Given the description of an element on the screen output the (x, y) to click on. 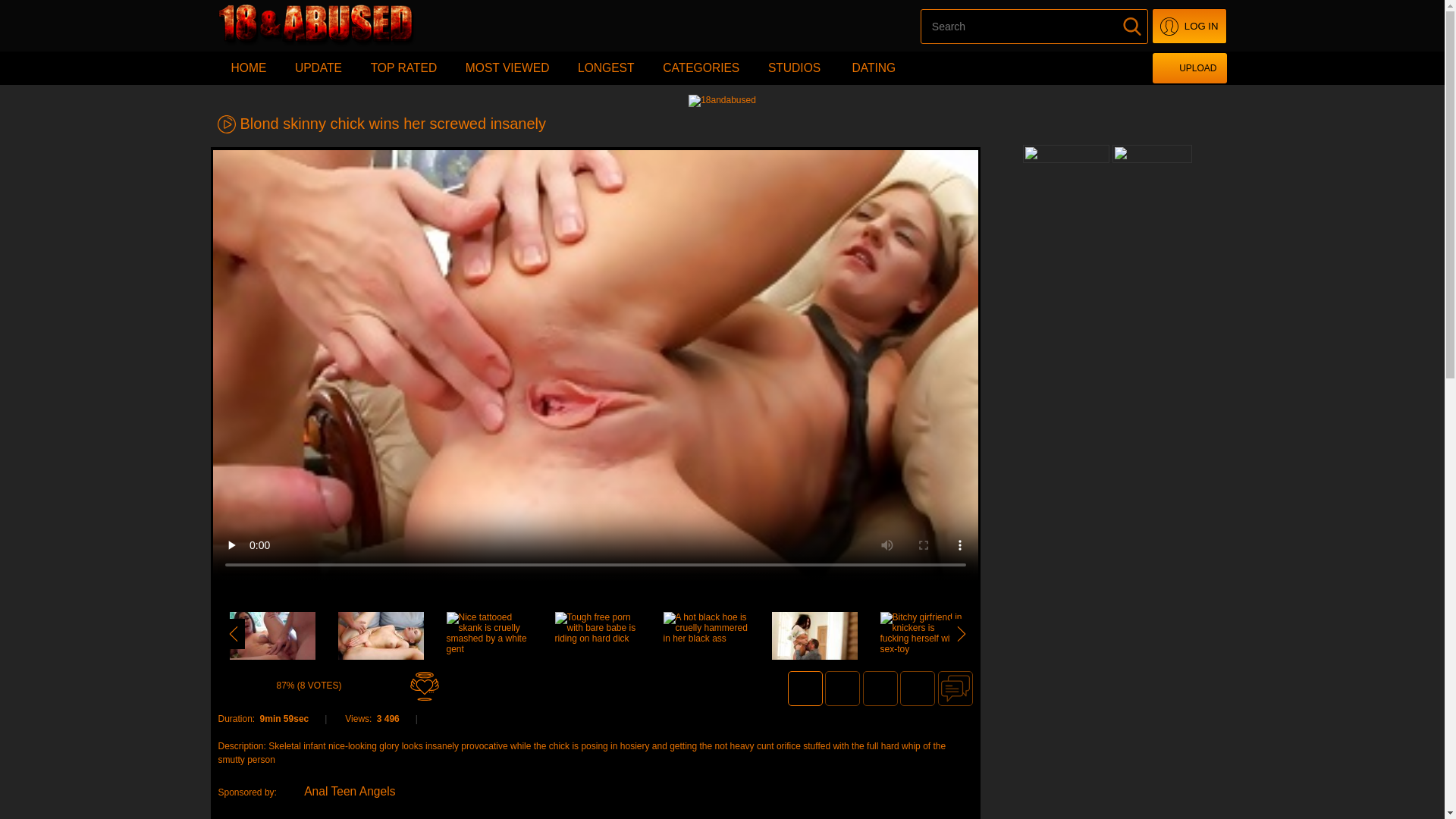
Bitchy girfriend in knickers is fucking herself with sex-toy Element type: hover (922, 635)
I like this video Element type: text (234, 685)
Add to Favourites Element type: hover (424, 685)
Brutal gent severely fucks his girlfriend Element type: hover (814, 635)
LOG IN Element type: text (1188, 25)
I don't like this video Element type: text (383, 685)
Nice tattooed skank is cruelly smashed by a white gent Element type: hover (488, 635)
18 and abused Element type: hover (722, 101)
CATEGORIES Element type: text (700, 68)
Anal Teen Angels Element type: text (339, 791)
Next Element type: text (960, 633)
TOP RATED Element type: text (403, 68)
MOST VIEWED Element type: text (507, 68)
VIDEO DETAILS Element type: text (804, 688)
COMMENTS (0) Element type: text (954, 688)
A hot black hoe is cruelly hammered in her black ass Element type: hover (705, 635)
18 And Abused Element type: hover (331, 25)
Previous Element type: text (232, 633)
STUDIOS Element type: text (794, 68)
Anal act of love with nice young girlfriend free porn Element type: hover (380, 635)
SCREENSHOTS Element type: text (879, 688)
Tough free porn with bare babe is riding on hard dick Element type: hover (597, 635)
HOME Element type: text (248, 68)
LONGEST Element type: text (605, 68)
DATING Element type: text (873, 68)
SHARE Element type: text (917, 688)
UPLOAD Element type: text (1189, 68)
UPDATE Element type: text (318, 68)
REPORT VIDEO Element type: text (842, 688)
